Given the description of an element on the screen output the (x, y) to click on. 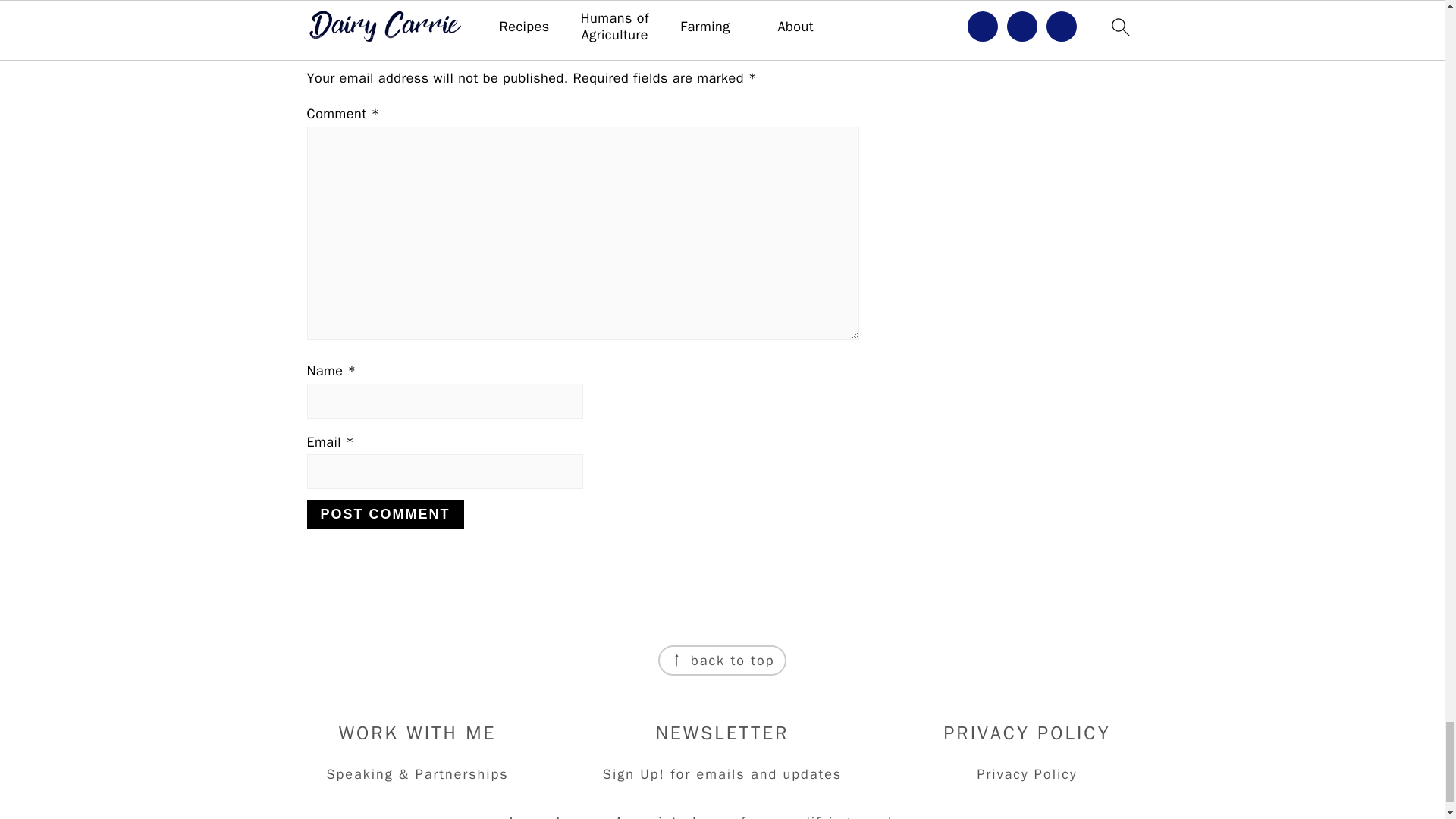
Post Comment (384, 514)
